Given the description of an element on the screen output the (x, y) to click on. 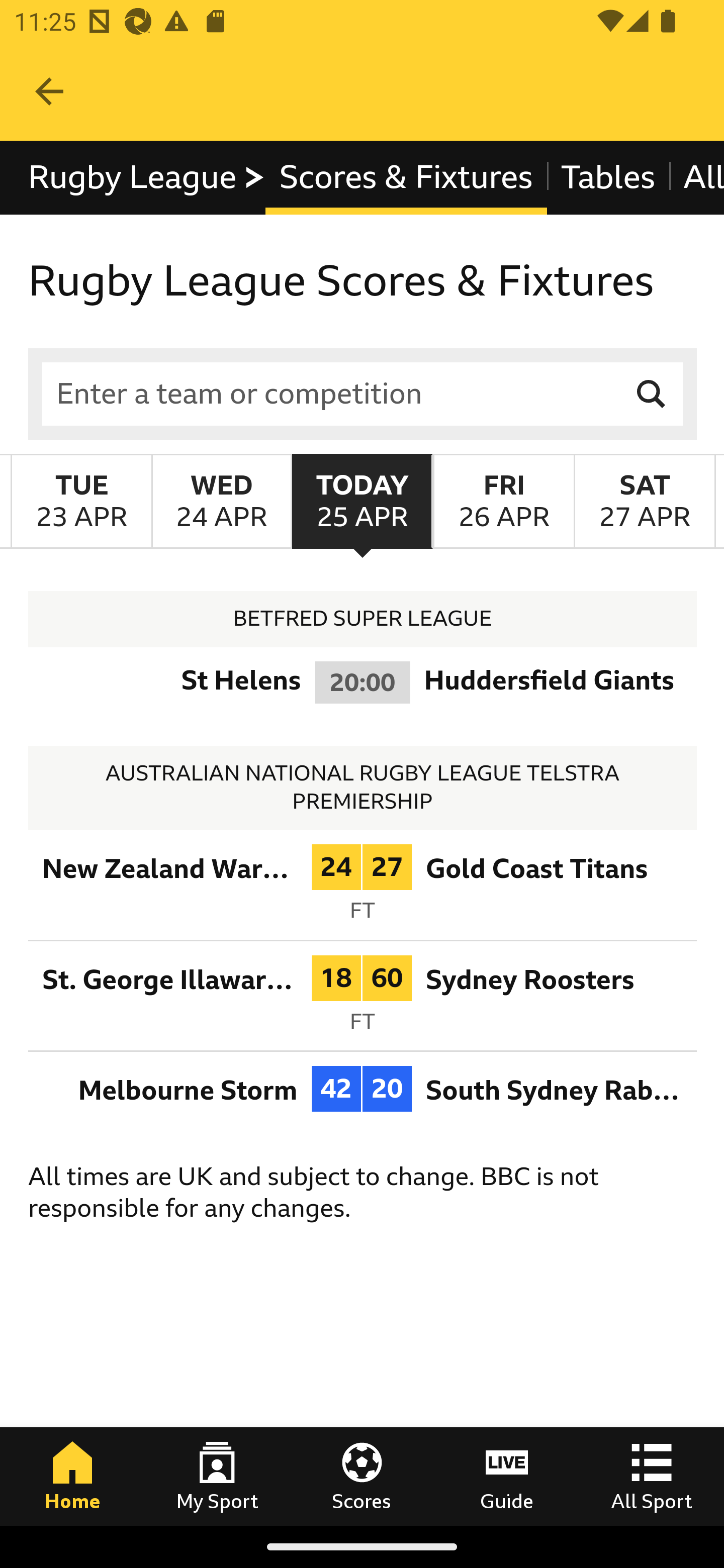
Navigate up (49, 91)
Rugby League  (146, 177)
Scores & Fixtures (405, 177)
Tables (607, 177)
Search (651, 393)
TuesdayApril 23rd Tuesday April 23rd (81, 500)
WednesdayApril 24th Wednesday April 24th (221, 500)
FridayApril 26th Friday April 26th (502, 500)
SaturdayApril 27th Saturday April 27th (644, 500)
My Sport (216, 1475)
Scores (361, 1475)
Guide (506, 1475)
All Sport (651, 1475)
